Given the description of an element on the screen output the (x, y) to click on. 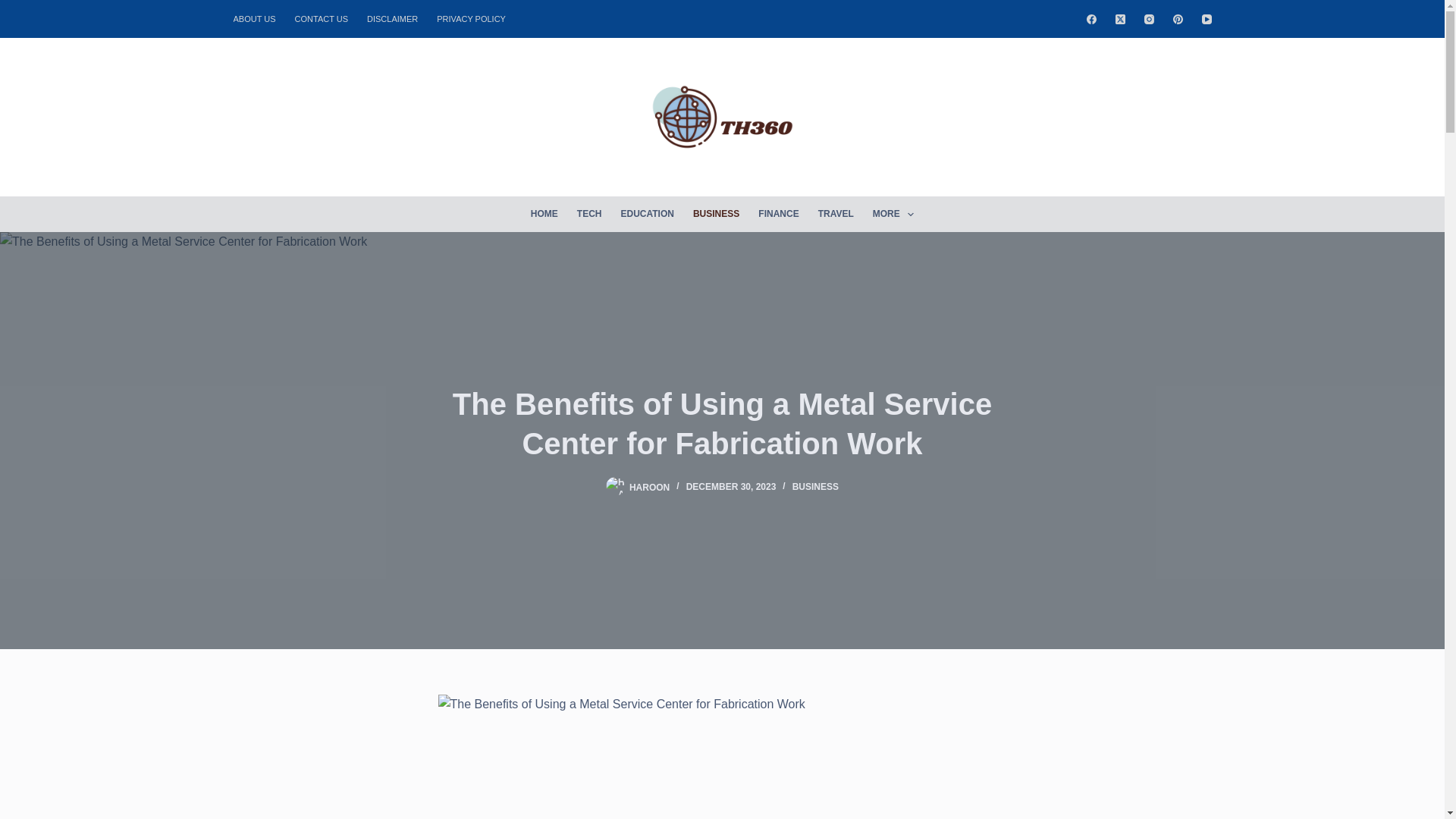
MORE (893, 213)
TECH (589, 213)
Posts by Haroon (648, 486)
Skip to content (15, 7)
CONTACT US (321, 18)
HOME (544, 213)
BUSINESS (715, 213)
PRIVACY POLICY (471, 18)
TRAVEL (835, 213)
